Given the description of an element on the screen output the (x, y) to click on. 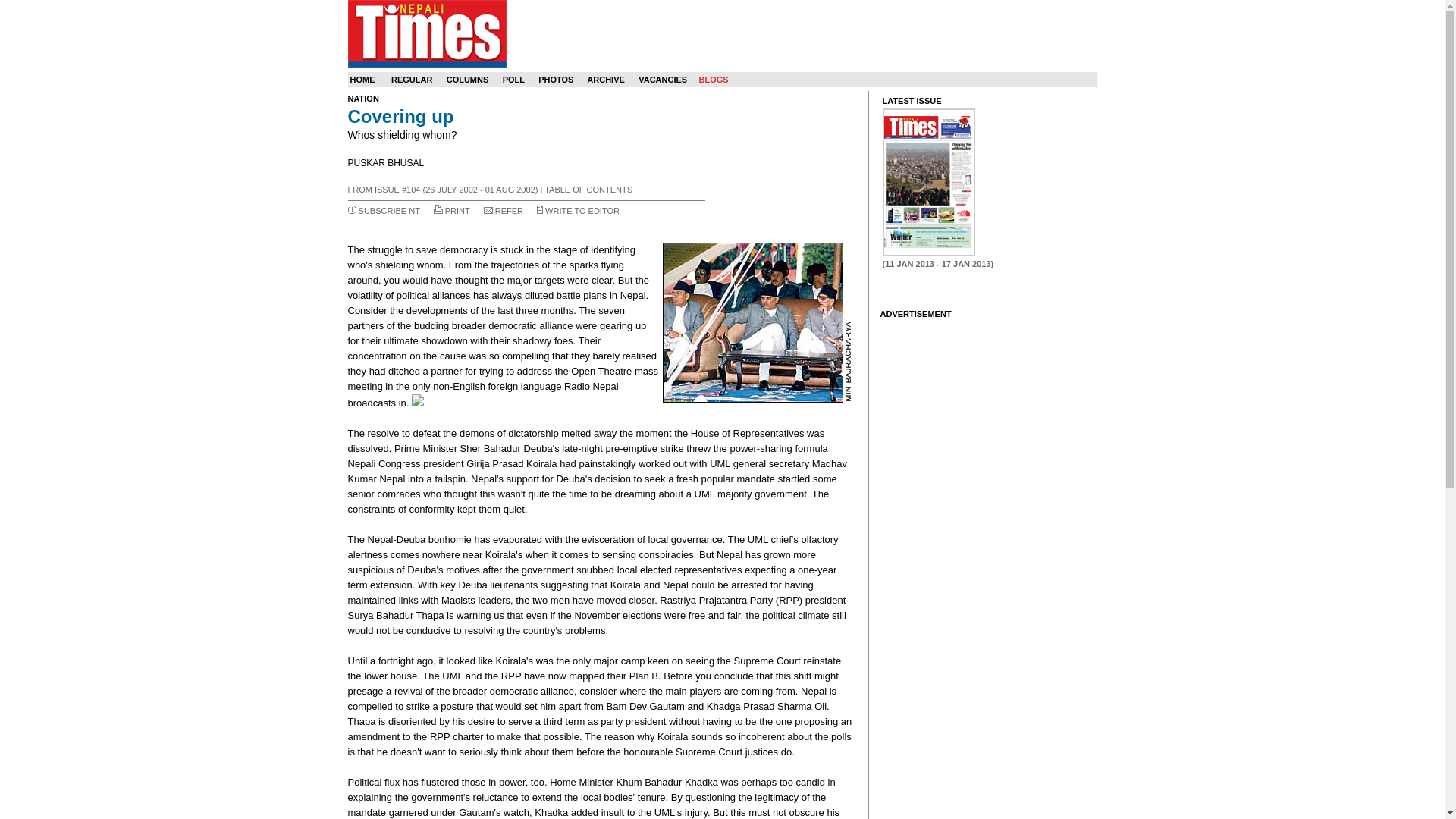
PRINT (458, 210)
SUBSCRIBE NT (389, 210)
WRITE TO EDITOR (582, 210)
VACANCIES (663, 79)
REFER (508, 210)
Nepali Times (426, 33)
COLUMNS (467, 79)
PHOTOS (555, 79)
ARCHIVE (605, 79)
POLL (513, 79)
